Given the description of an element on the screen output the (x, y) to click on. 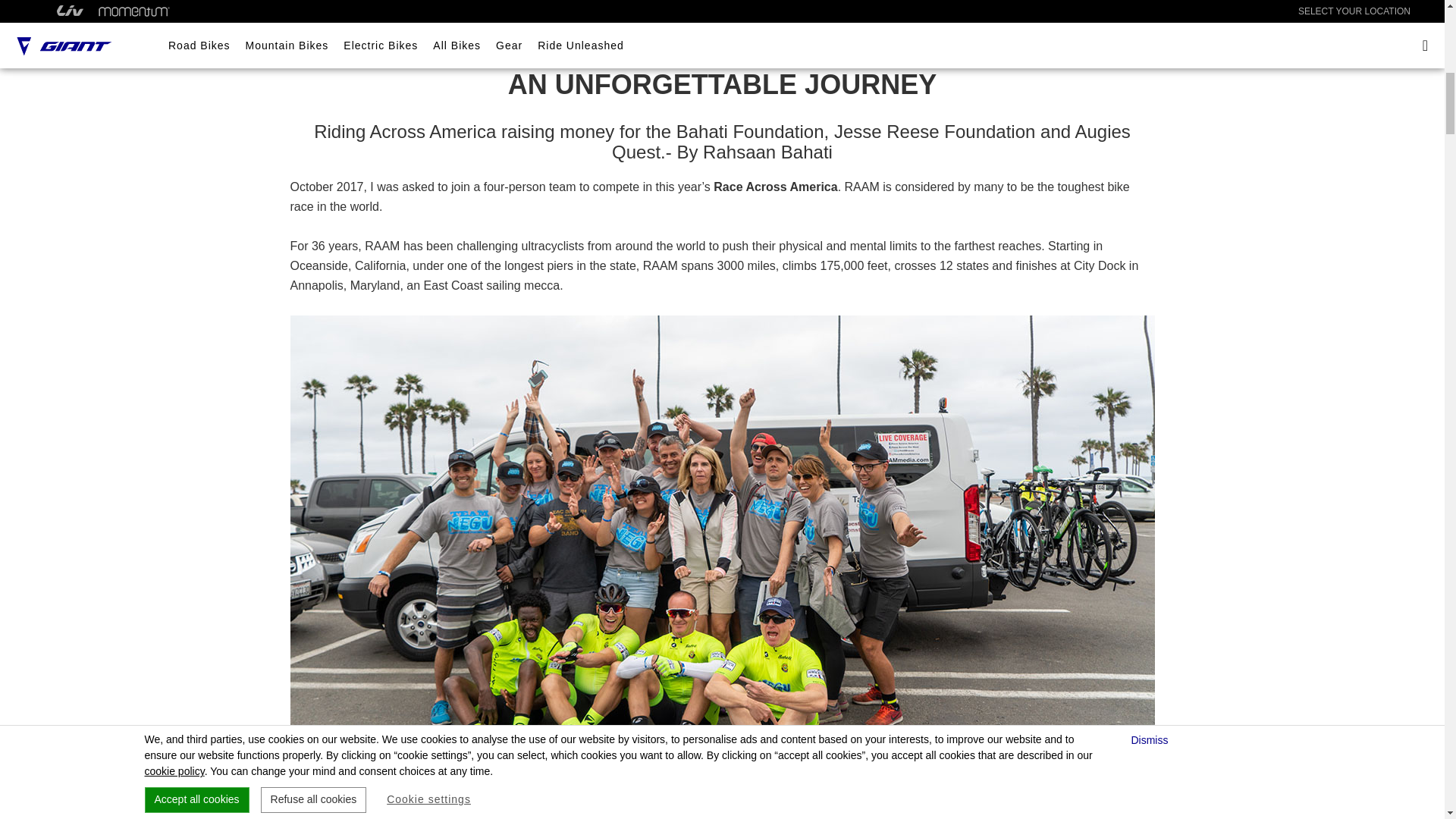
Ride Unleashed (327, 50)
